Given the description of an element on the screen output the (x, y) to click on. 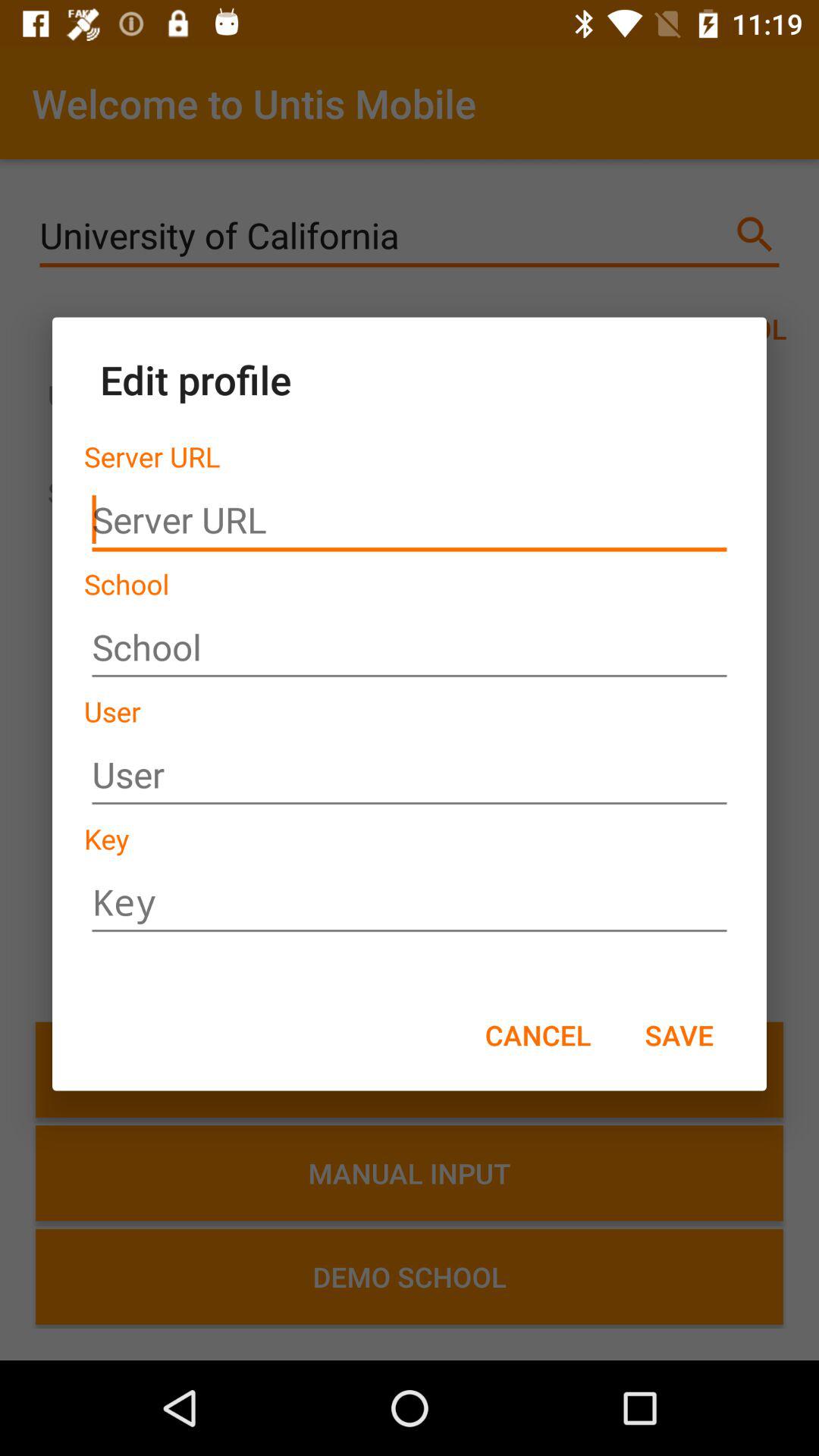
launch item next to the cancel (678, 1034)
